Given the description of an element on the screen output the (x, y) to click on. 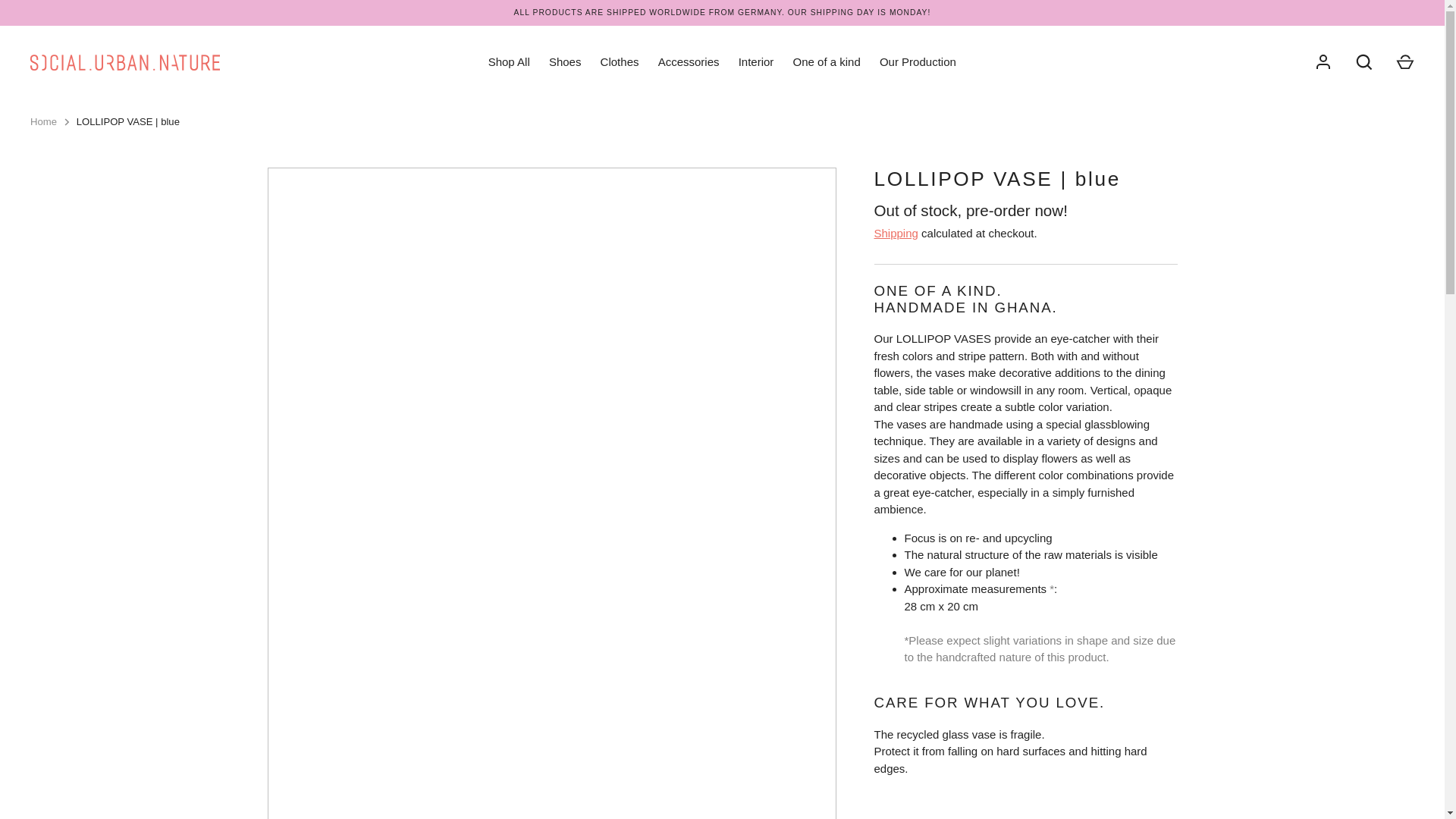
Shoes (564, 62)
Our Production (916, 62)
One of a kind (825, 62)
Accessories (687, 62)
Shop All (508, 62)
Interior (755, 62)
Clothes (619, 62)
